Given the description of an element on the screen output the (x, y) to click on. 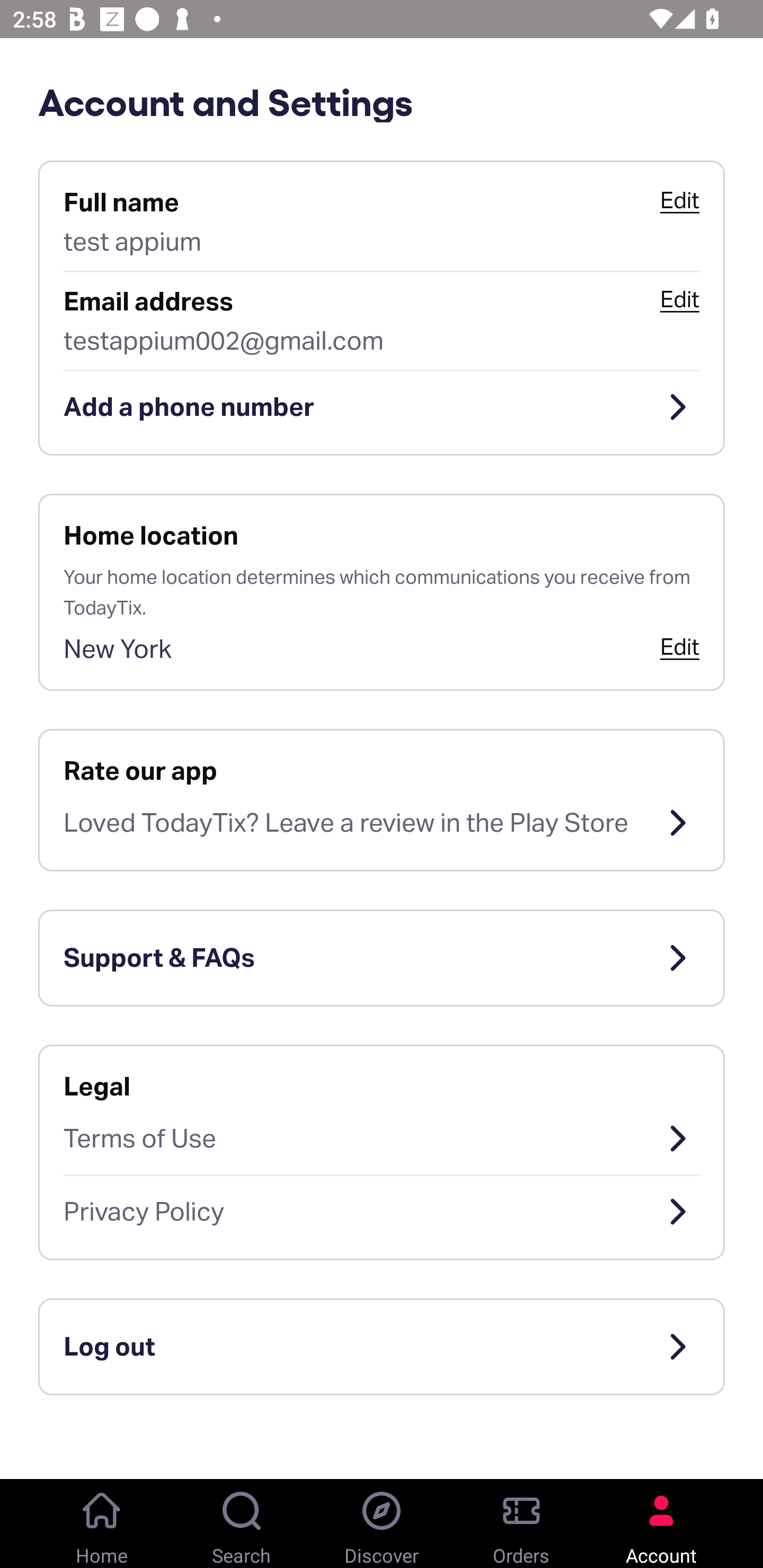
Edit (679, 200)
Edit (679, 299)
Add a phone number (381, 406)
Edit (679, 646)
Loved TodayTix? Leave a review in the Play Store (381, 822)
Support & FAQs (381, 957)
Terms of Use (381, 1137)
Privacy Policy (381, 1211)
Log out (381, 1346)
Home (101, 1523)
Search (241, 1523)
Discover (381, 1523)
Orders (521, 1523)
